Given the description of an element on the screen output the (x, y) to click on. 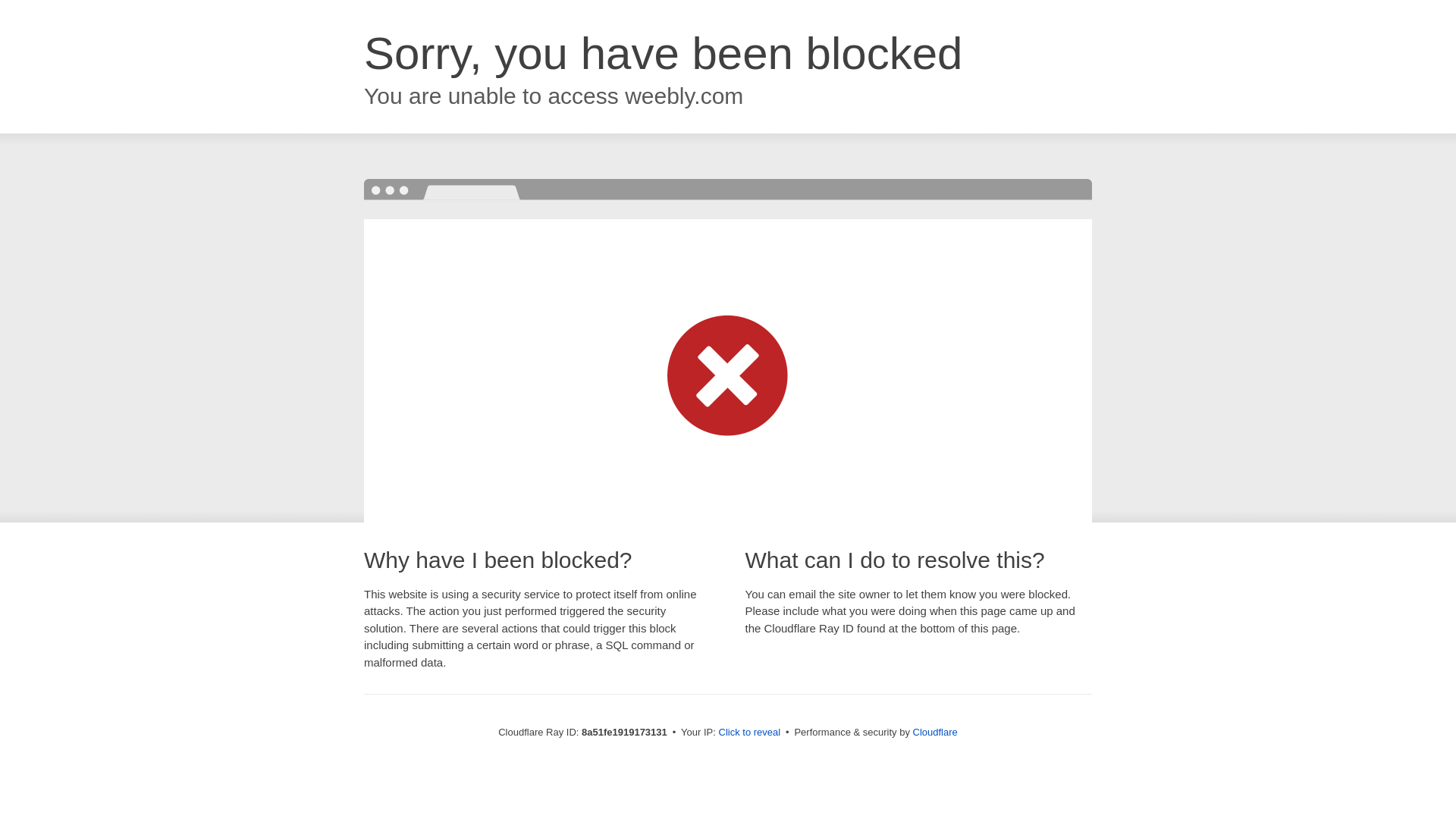
Click to reveal (749, 732)
Cloudflare (935, 731)
